Given the description of an element on the screen output the (x, y) to click on. 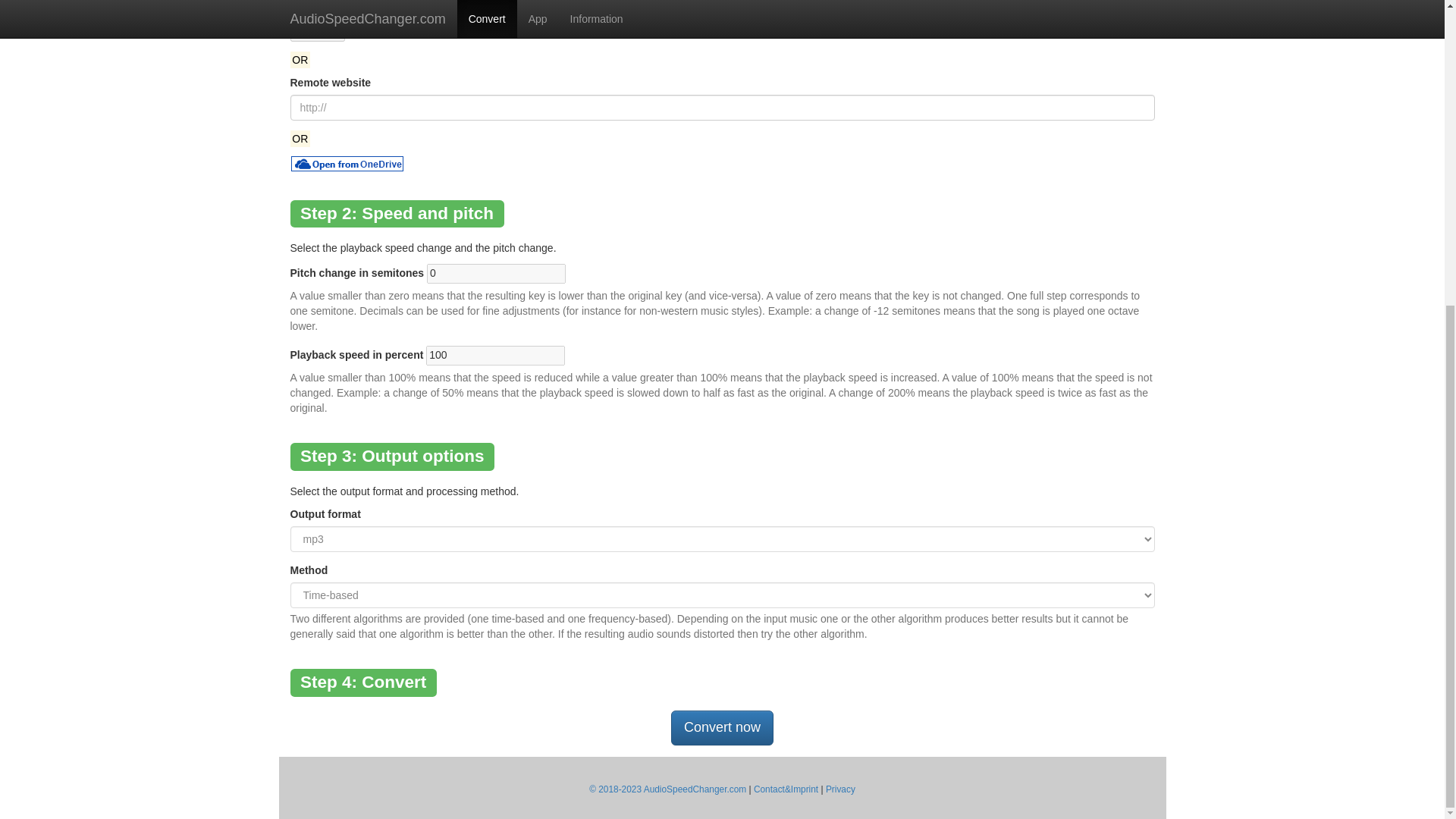
Convert now (722, 727)
Privacy (840, 788)
100 (495, 355)
0 (496, 273)
